Given the description of an element on the screen output the (x, y) to click on. 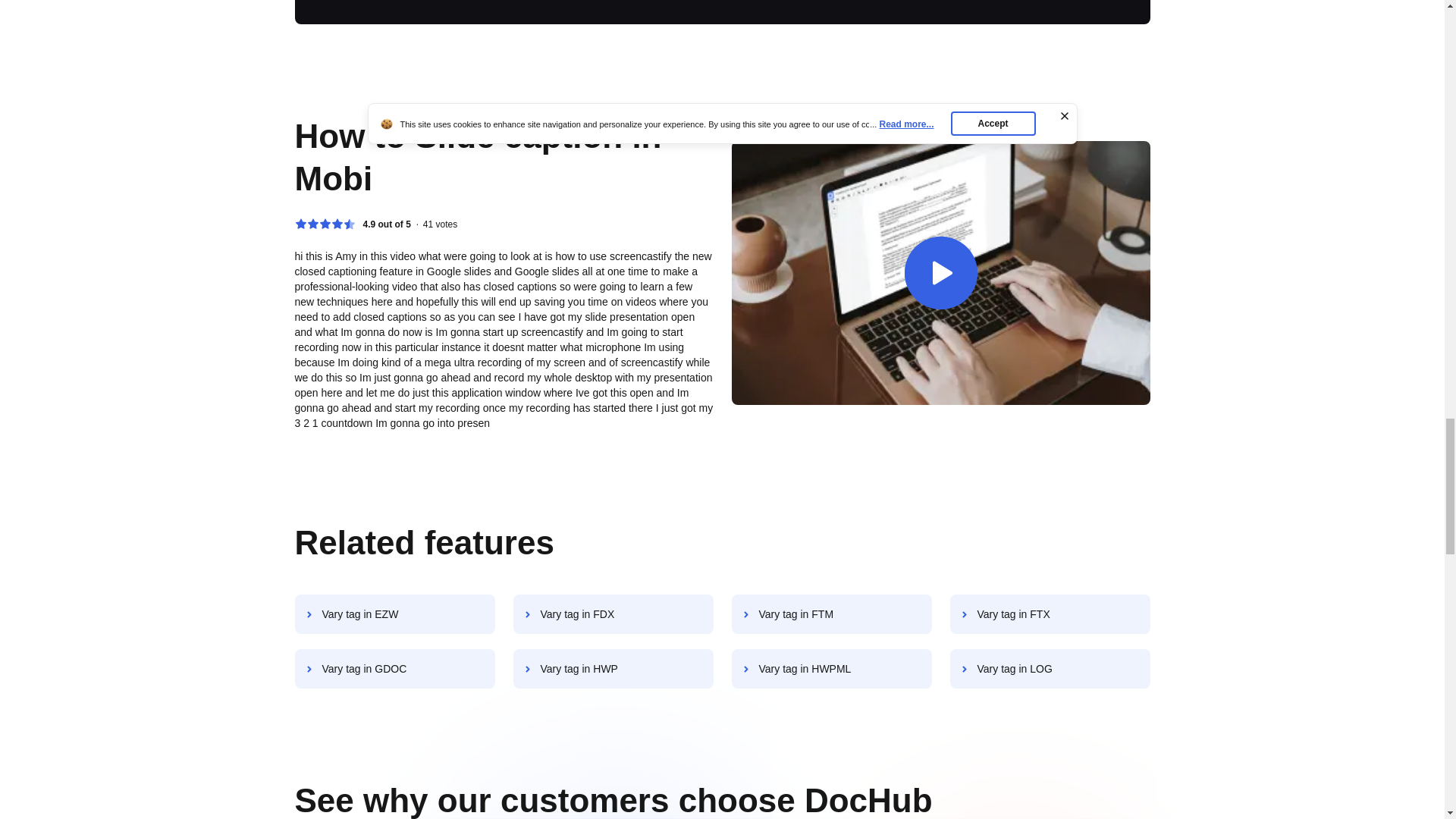
Vary tag in FTX (1049, 613)
Vary tag in GDOC (394, 668)
Vary tag in FDX (612, 613)
Vary tag in LOG (1049, 668)
Vary tag in FTM (830, 613)
Vary tag in HWPML (830, 668)
Vary tag in EZW (394, 613)
Vary tag in HWP (612, 668)
